Given the description of an element on the screen output the (x, y) to click on. 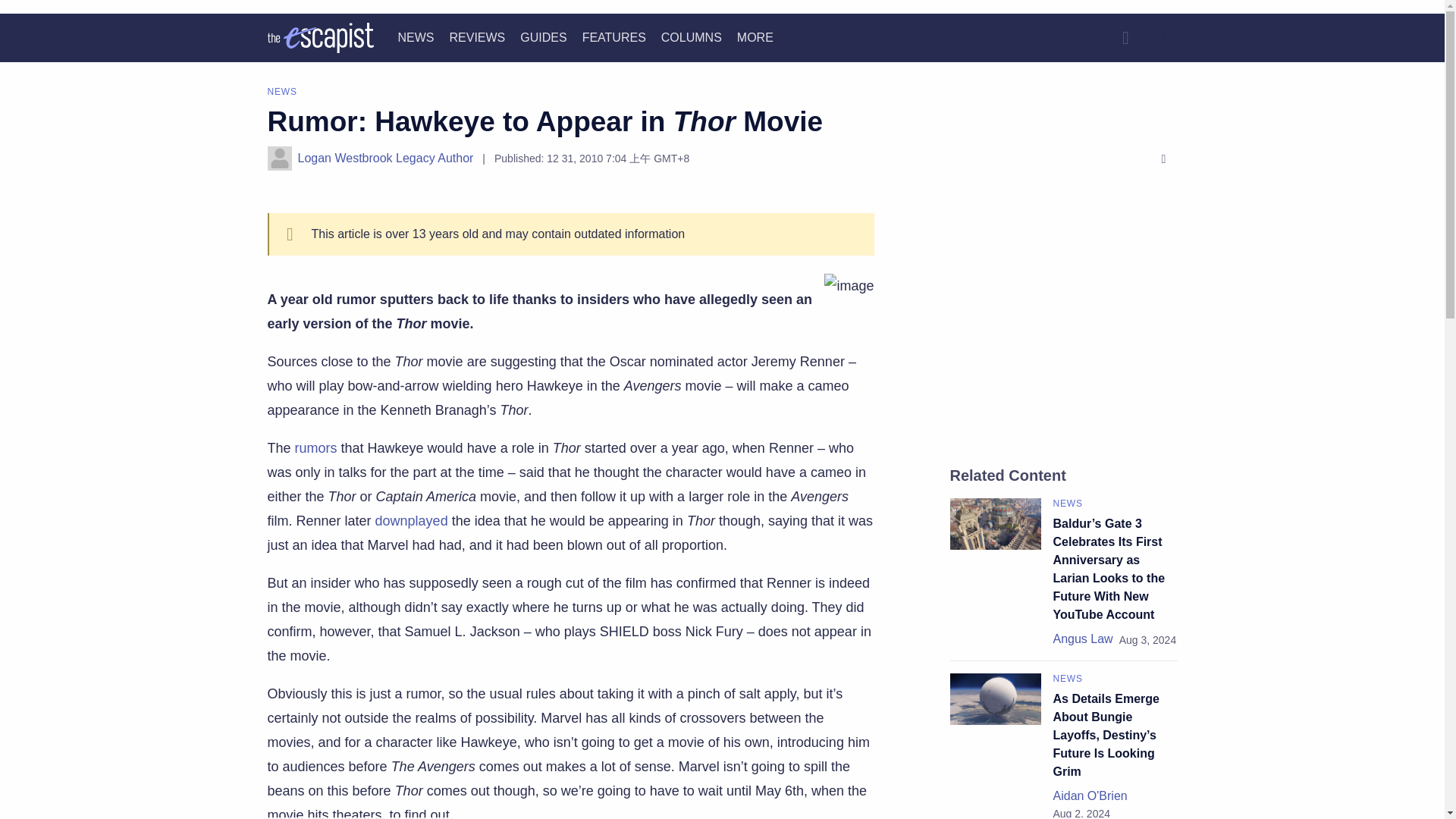
FEATURES (614, 37)
COLUMNS (691, 37)
NEWS (415, 37)
REVIEWS (476, 37)
Dark Mode (1161, 37)
GUIDES (542, 37)
Search (1124, 37)
